Given the description of an element on the screen output the (x, y) to click on. 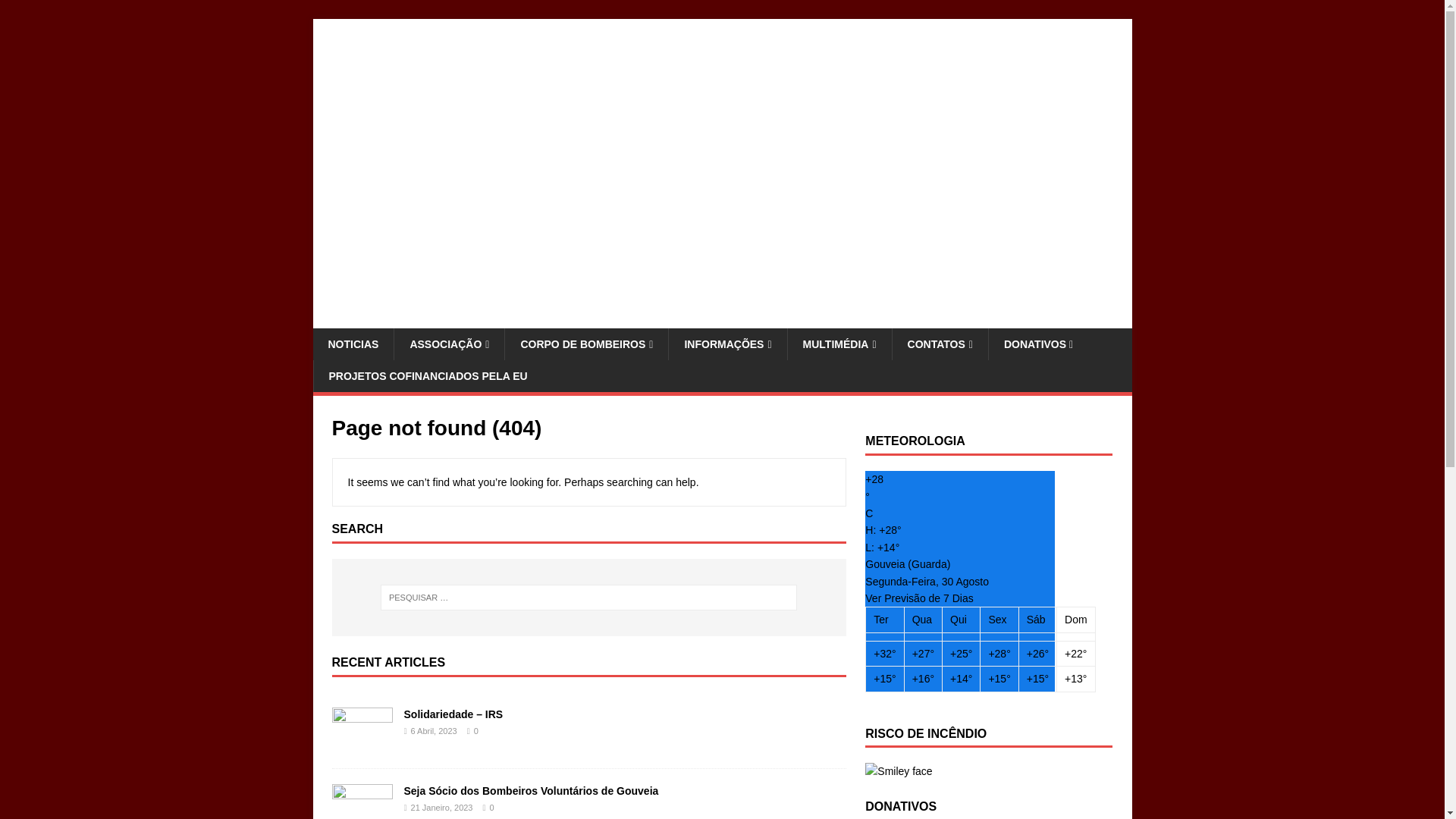
Bombeiros de Gouveia (722, 318)
NOTICIAS (353, 344)
CORPO DE BOMBEIROS (585, 344)
